Given the description of an element on the screen output the (x, y) to click on. 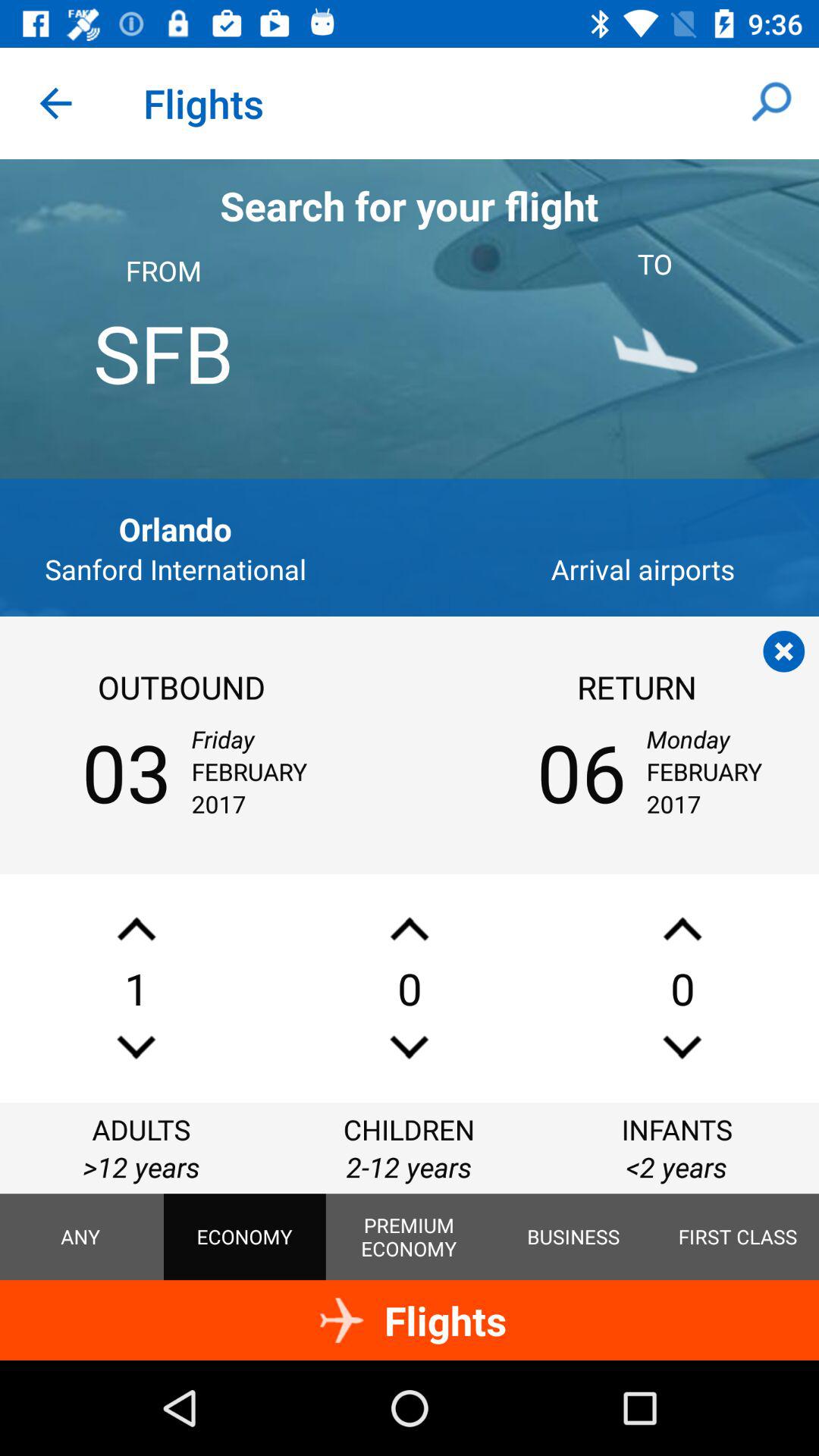
collapse option (784, 651)
